Given the description of an element on the screen output the (x, y) to click on. 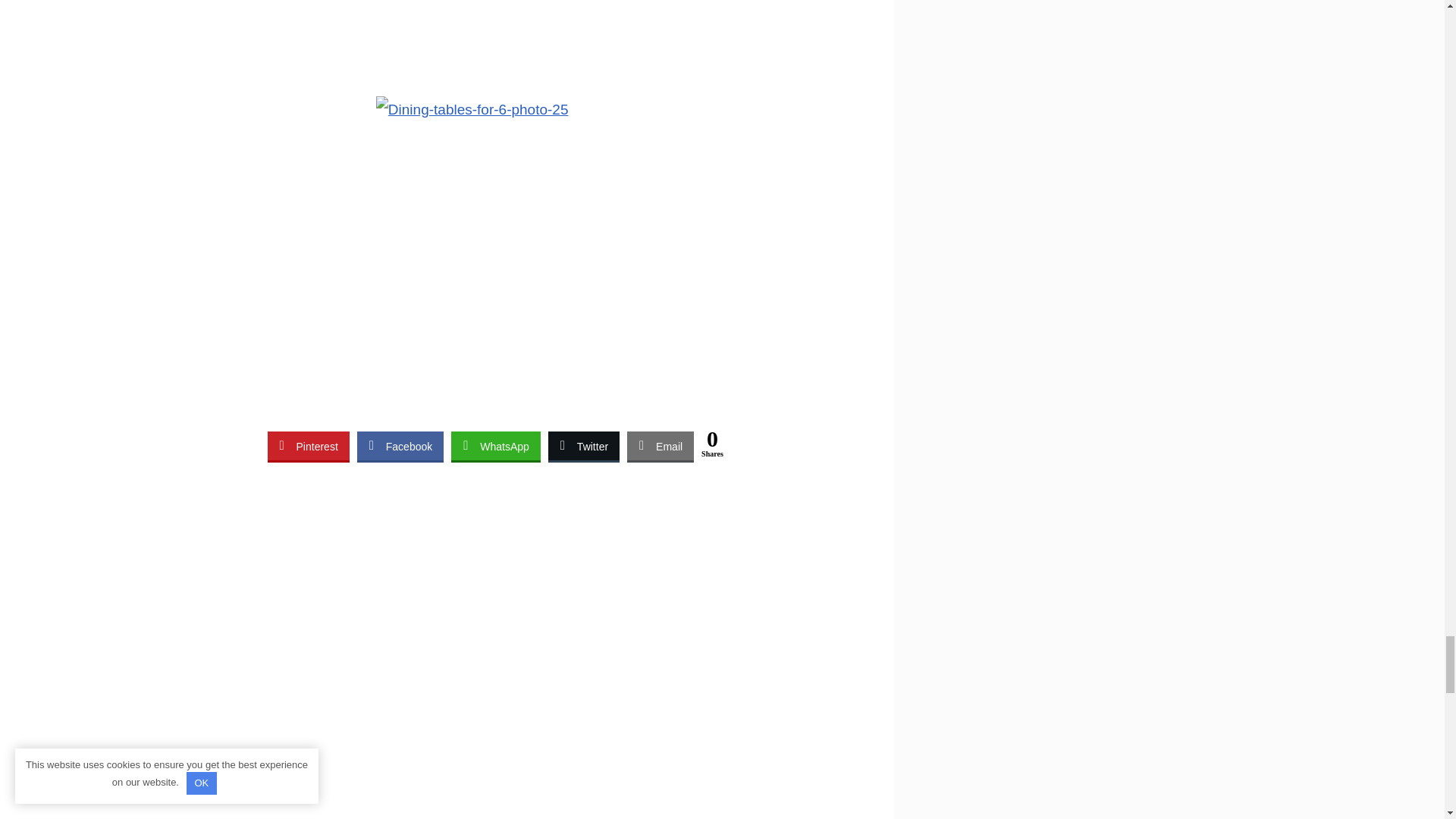
Pinterest (308, 445)
Facebook (400, 445)
Twitter (584, 445)
WhatsApp (495, 445)
Email (660, 445)
